Given the description of an element on the screen output the (x, y) to click on. 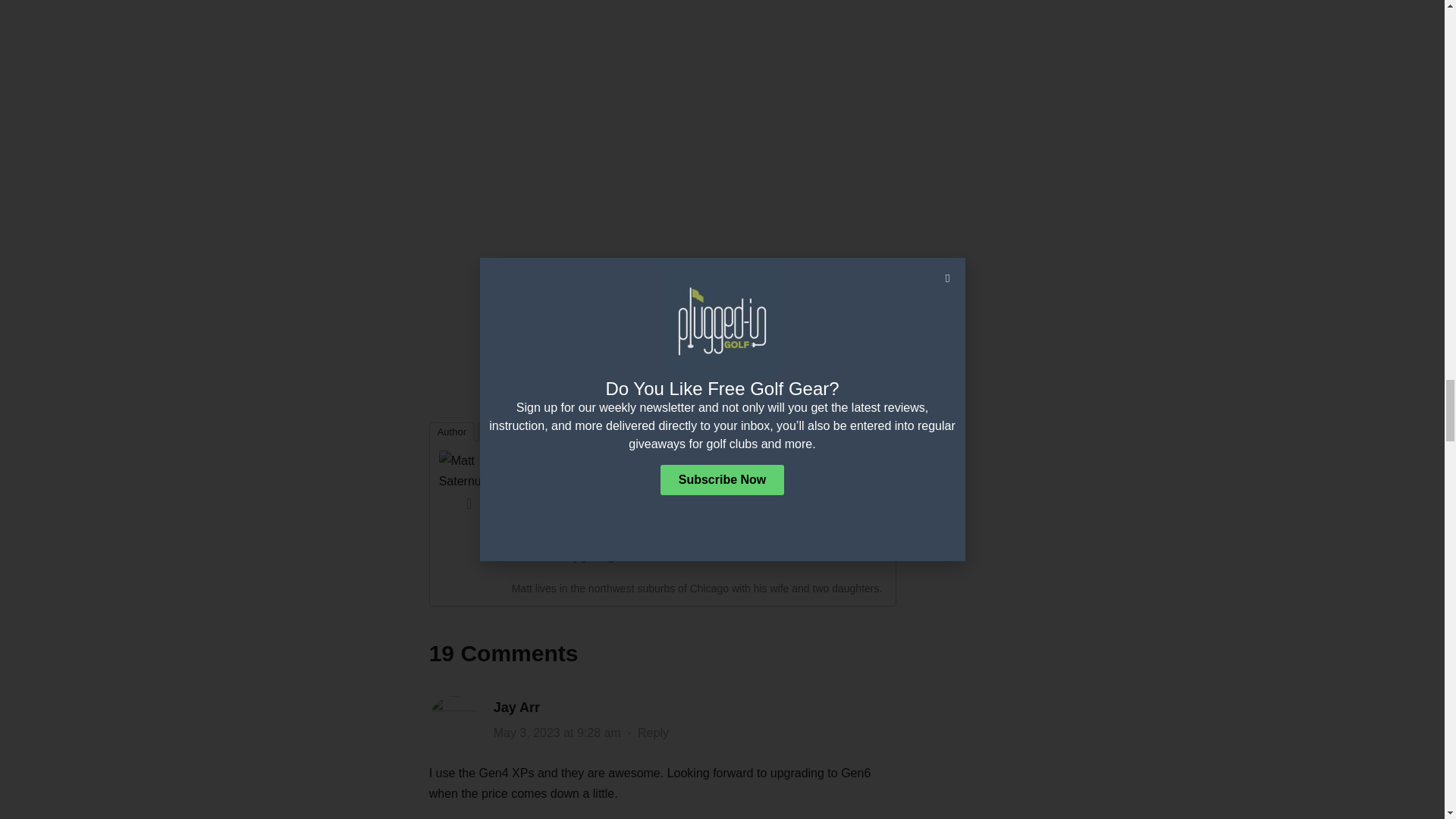
Matt Saternus (469, 469)
Twitter (469, 503)
